Given the description of an element on the screen output the (x, y) to click on. 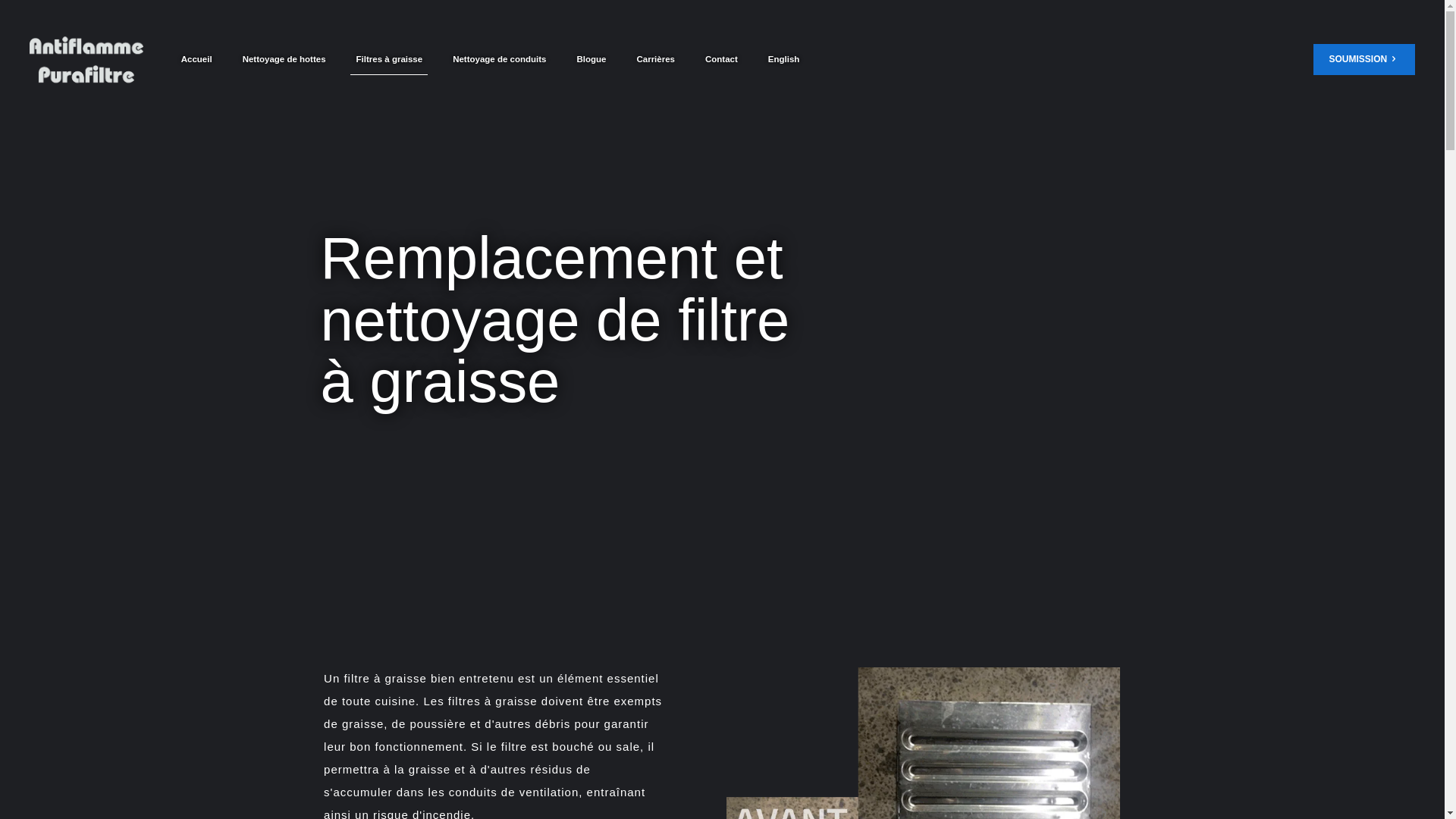
Accueil Element type: text (196, 59)
Blogue Element type: text (591, 59)
Nettoyage de hottes Element type: text (284, 59)
Nettoyage de conduits Element type: text (499, 59)
Contact Element type: text (721, 59)
English Element type: text (784, 59)
Antiflamme Purafiltre Element type: hover (86, 59)
SOUMISSION Element type: text (1363, 59)
